Given the description of an element on the screen output the (x, y) to click on. 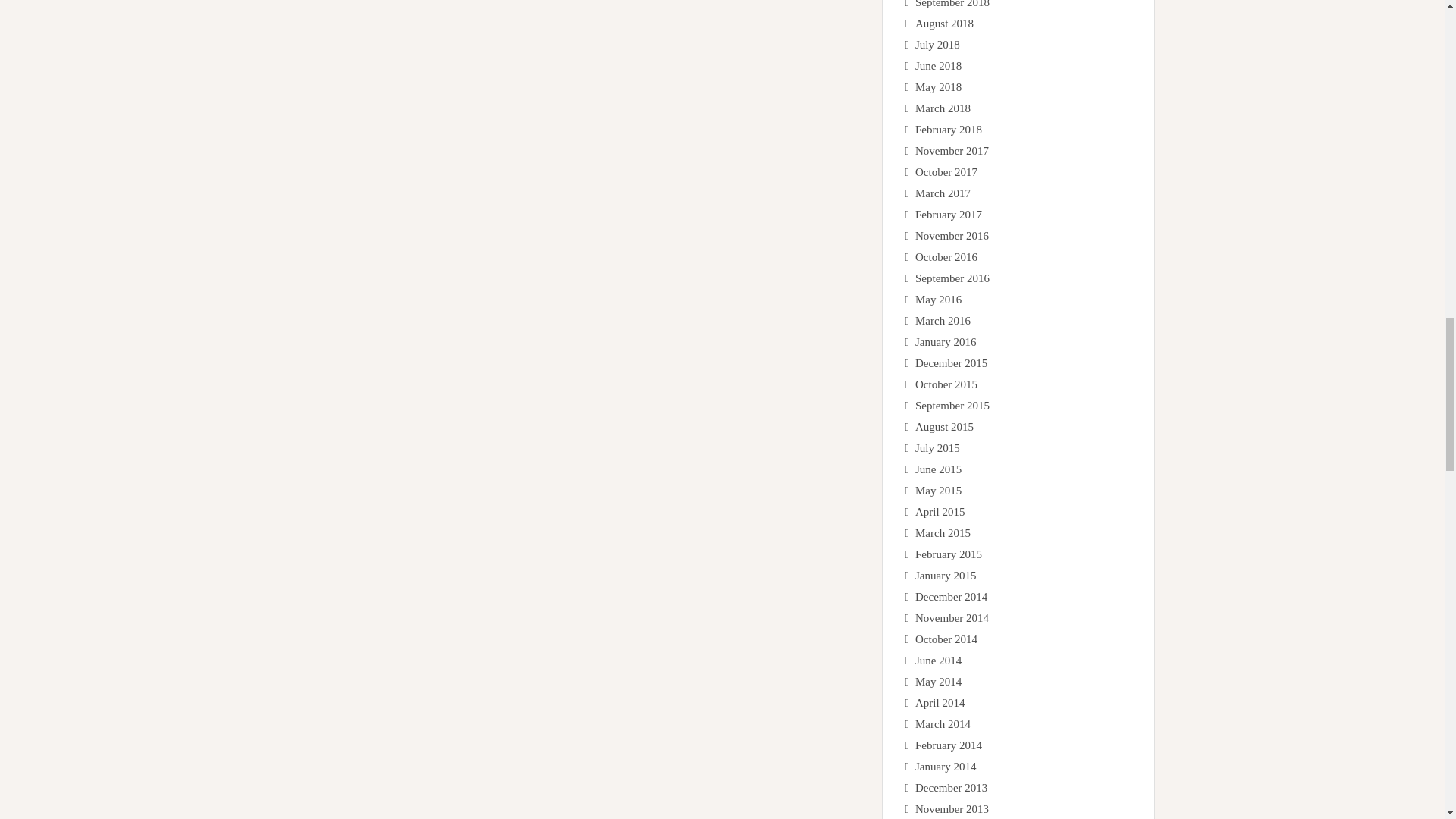
September 2018 (952, 4)
